Given the description of an element on the screen output the (x, y) to click on. 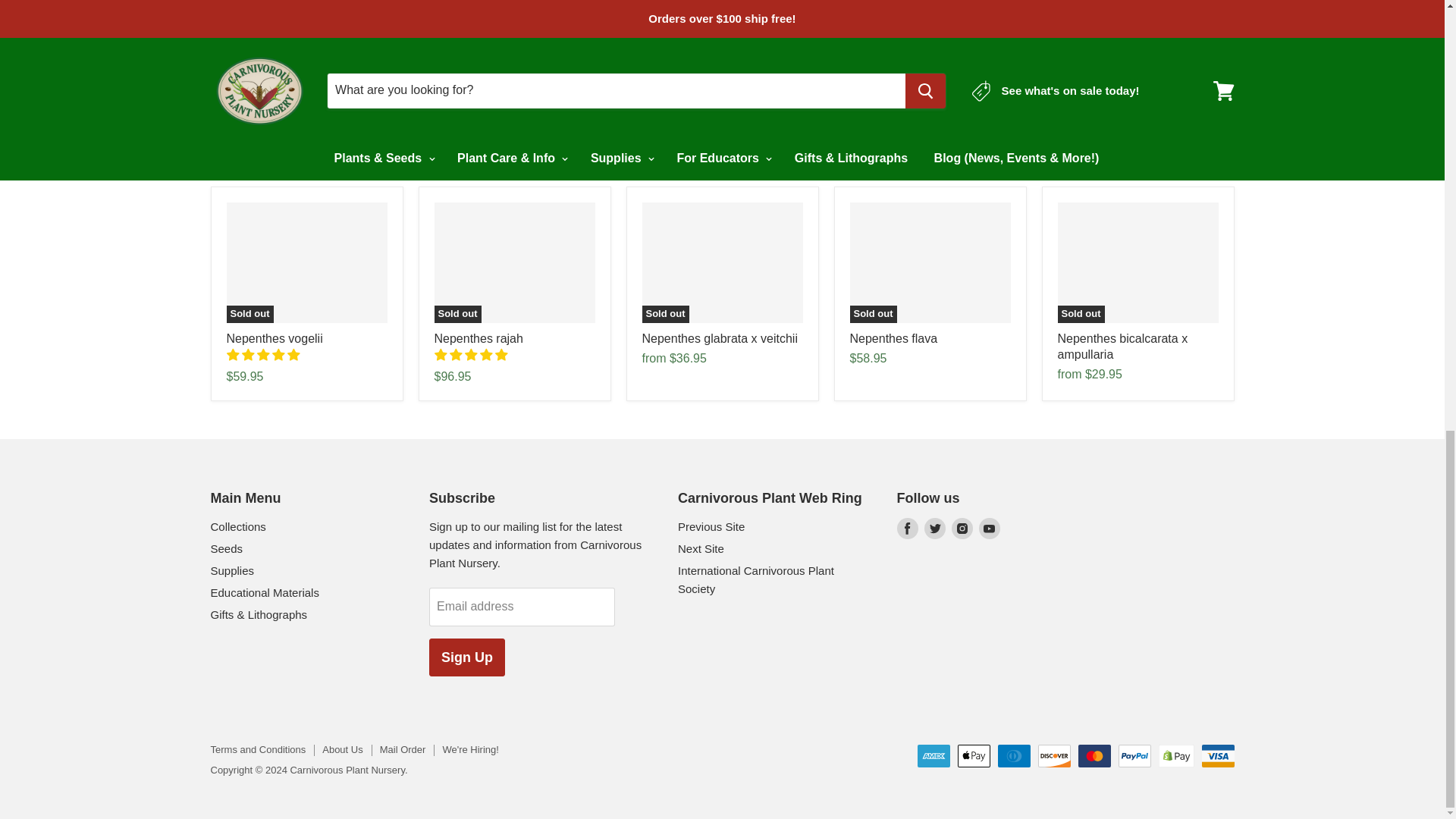
Twitter (933, 528)
Facebook (906, 528)
Instagram (961, 528)
Youtube (989, 528)
